Given the description of an element on the screen output the (x, y) to click on. 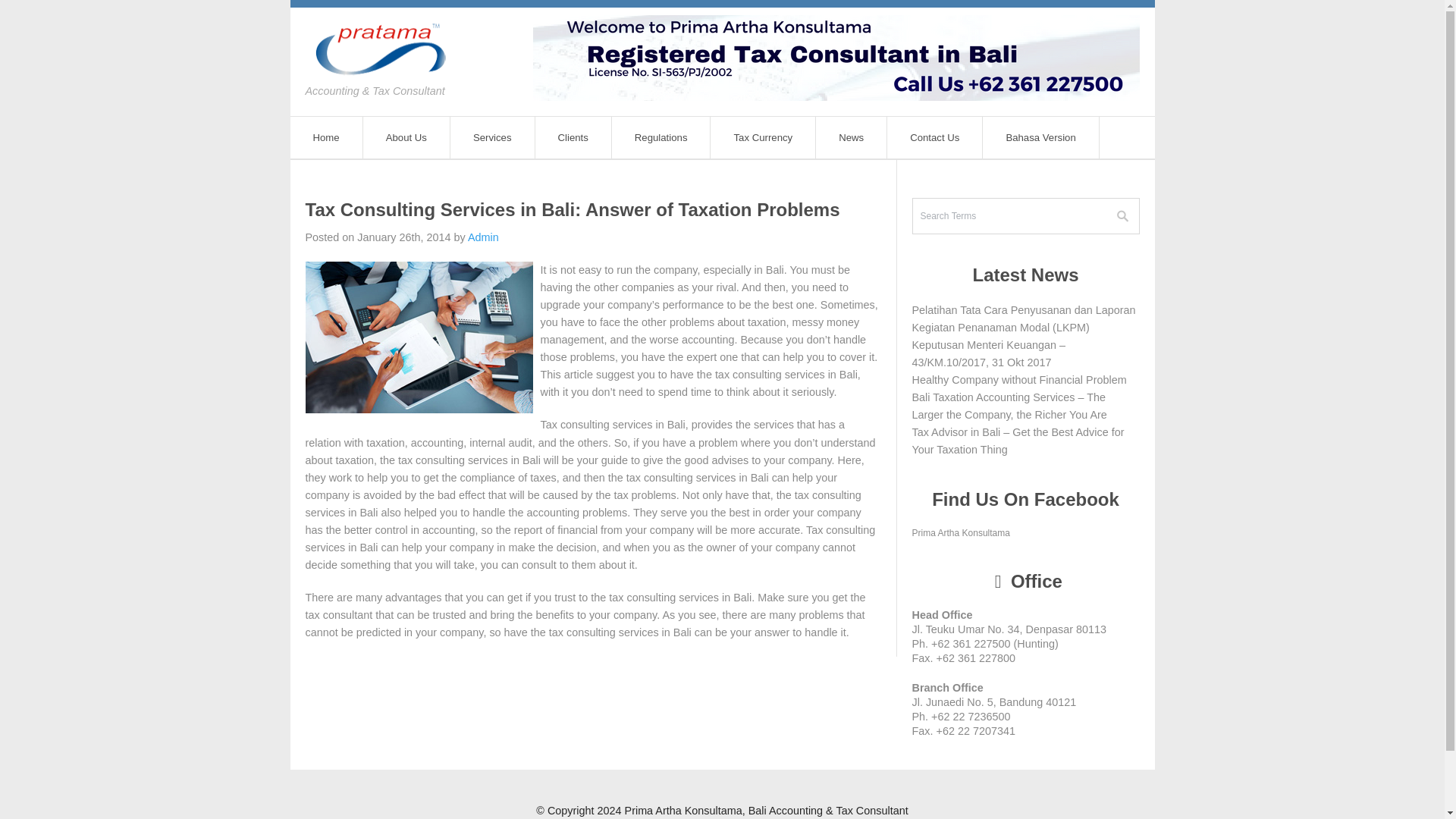
News (850, 137)
Regulations (661, 137)
Home (325, 137)
Services (492, 137)
Healthy Company without Financial Problem (1018, 379)
Tax Currency (762, 137)
Search (1121, 216)
About Us (405, 137)
Admin (483, 236)
Posts by Admin (483, 236)
